Given the description of an element on the screen output the (x, y) to click on. 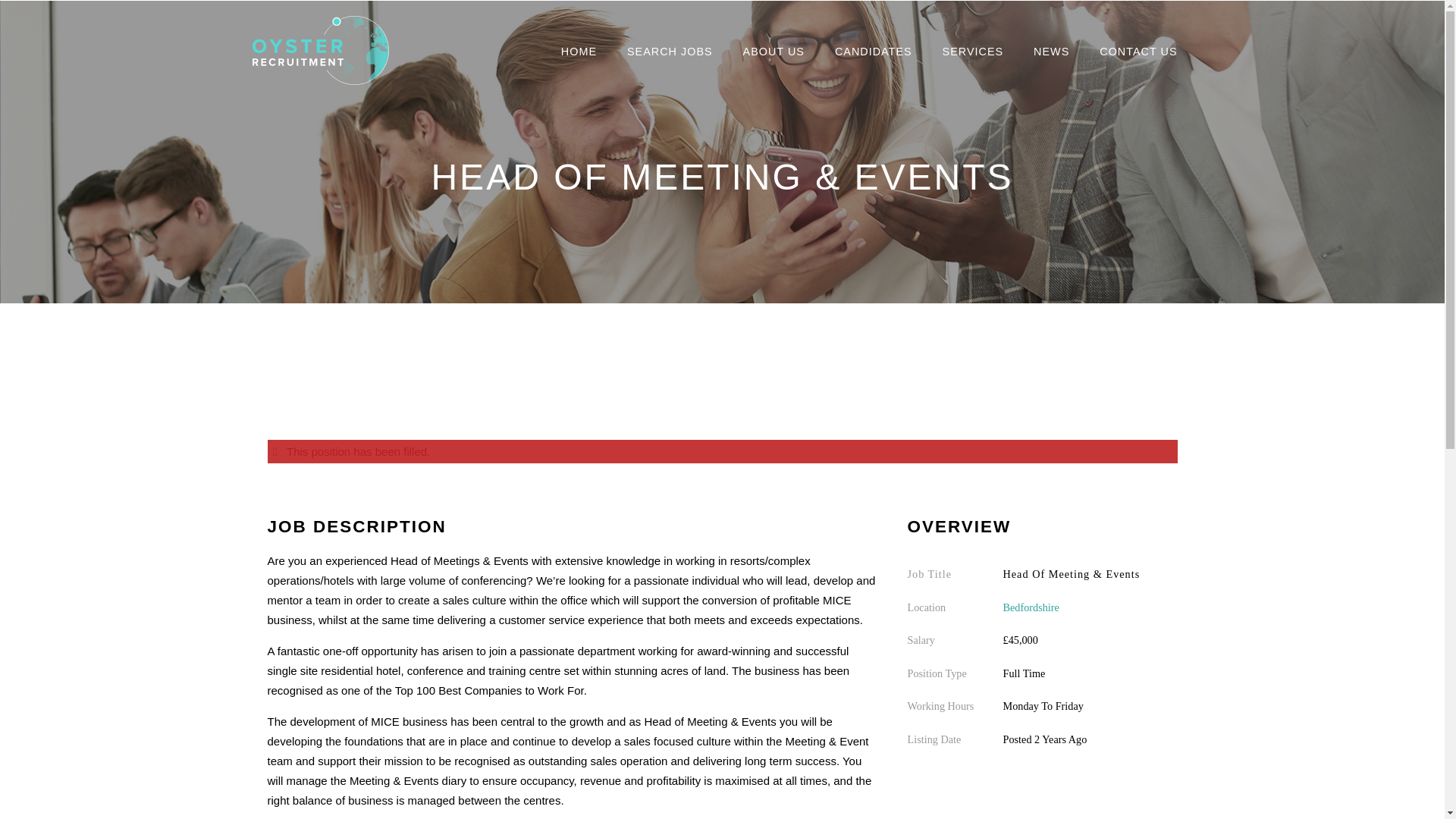
CONTACT US (1137, 51)
CANDIDATES (873, 51)
HOME (579, 51)
ABOUT US (773, 51)
SERVICES (973, 51)
NEWS (1050, 51)
Bedfordshire (1030, 606)
SEARCH JOBS (669, 51)
